Given the description of an element on the screen output the (x, y) to click on. 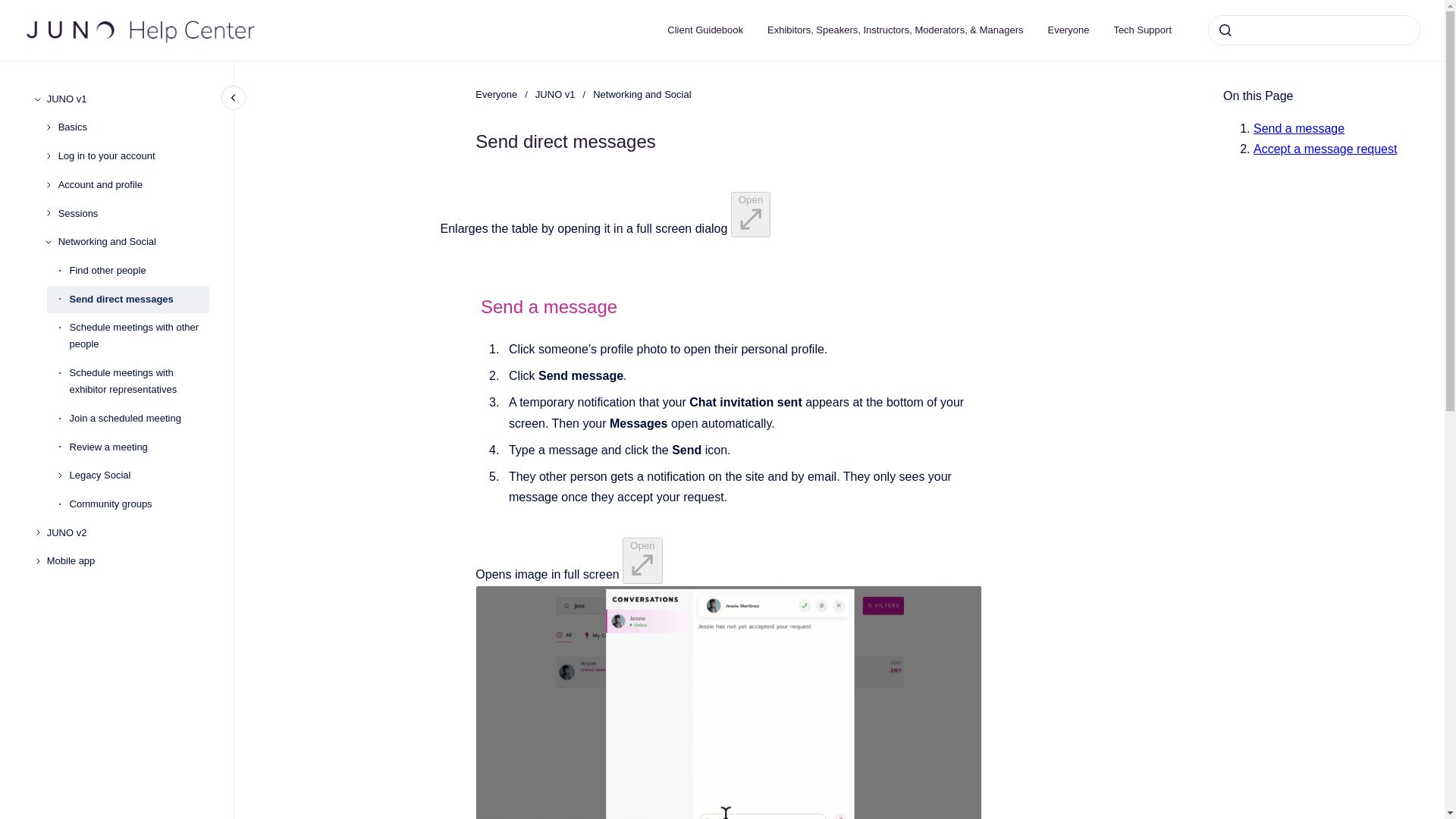
Everyone (496, 94)
Account and profile (133, 185)
Sessions (133, 213)
Everyone (1067, 29)
Log in to your account (133, 155)
Mobile app (127, 560)
Schedule meetings with exhibitor representatives (139, 381)
Find other people (139, 270)
JUNO v2 (127, 533)
Join a scheduled meeting (139, 418)
JUNO v1 (555, 94)
Schedule meetings with other people (139, 335)
JUNO v1 (127, 99)
Review a meeting (139, 447)
